Given the description of an element on the screen output the (x, y) to click on. 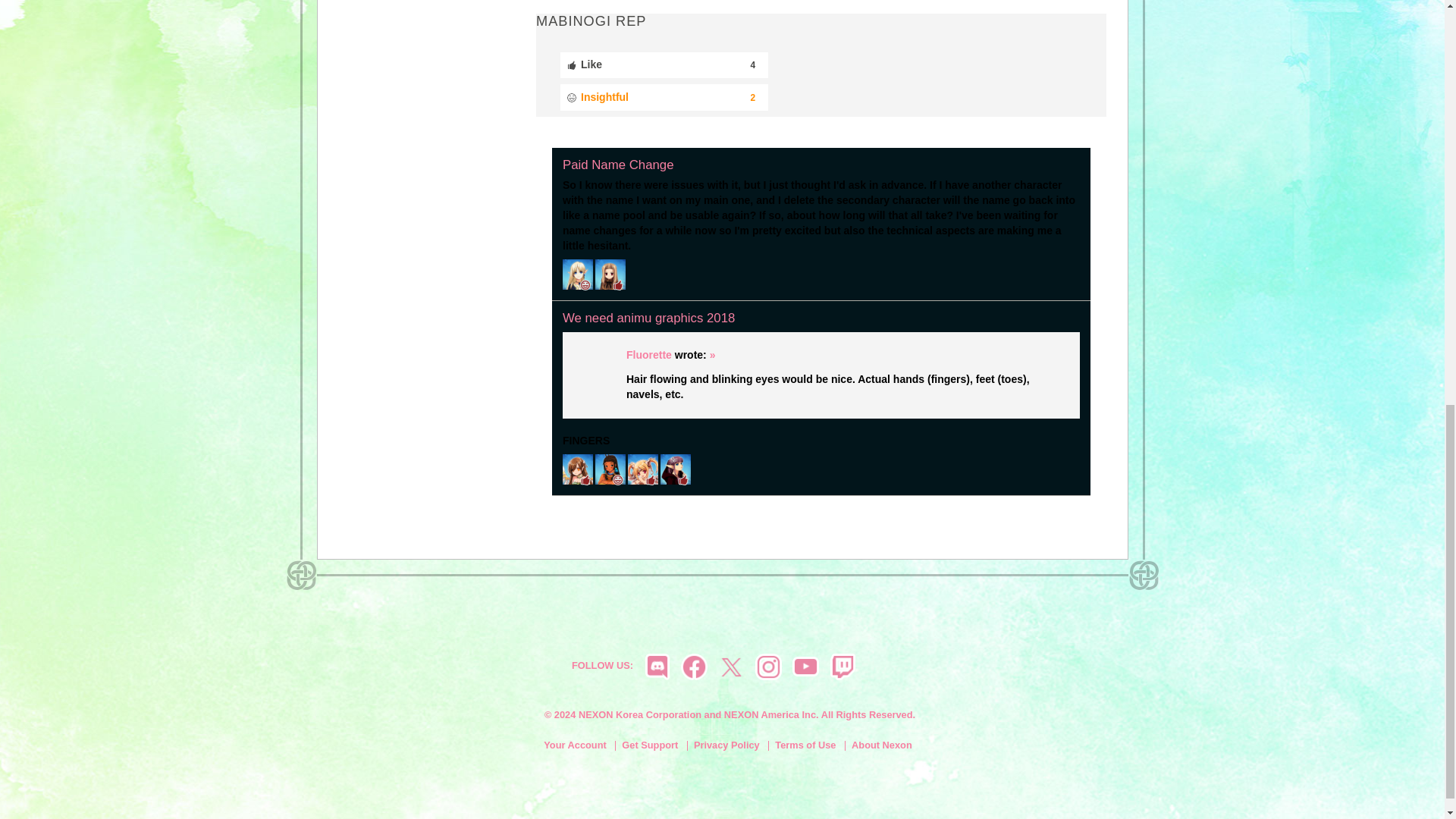
Insightful (664, 97)
Like (664, 64)
Sherri (610, 273)
demonkiller1996 (577, 273)
demonkiller1996 - Insightful on January 17, 2020. (577, 274)
Sherri - Like on January 17, 2020. (610, 274)
